Given the description of an element on the screen output the (x, y) to click on. 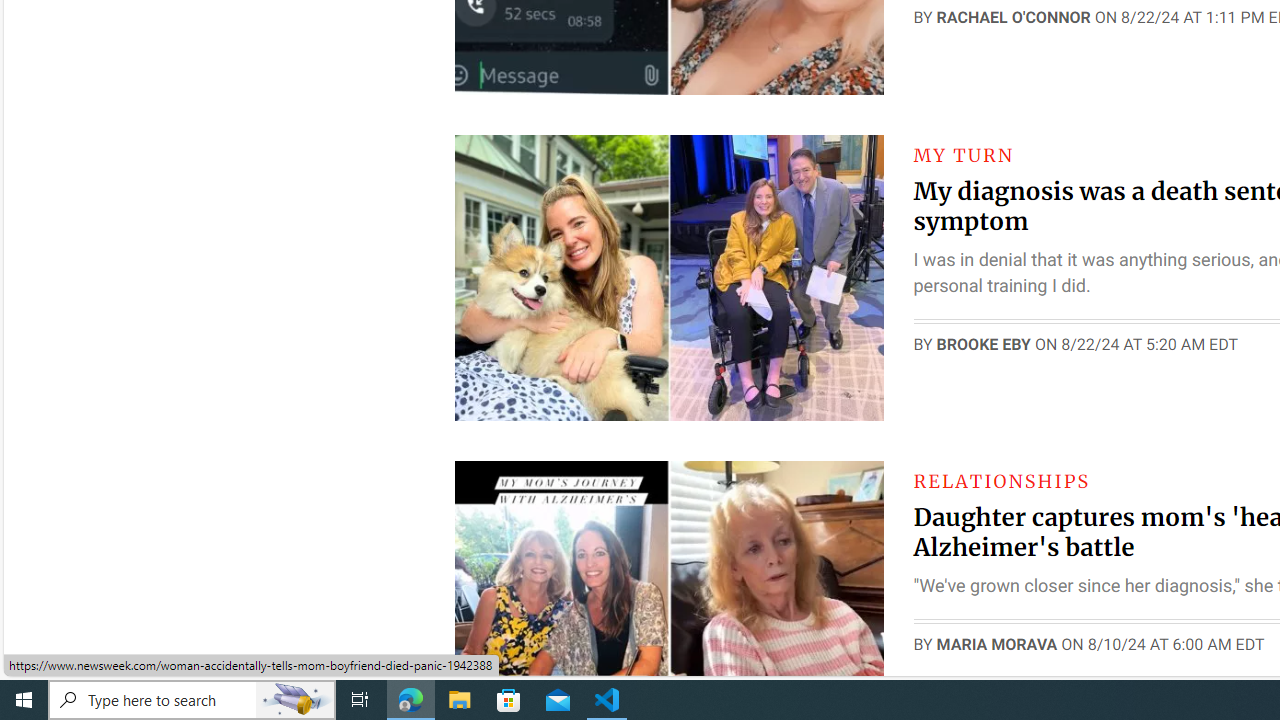
RELATIONSHIPS (1001, 480)
MY TURN (963, 155)
